Given the description of an element on the screen output the (x, y) to click on. 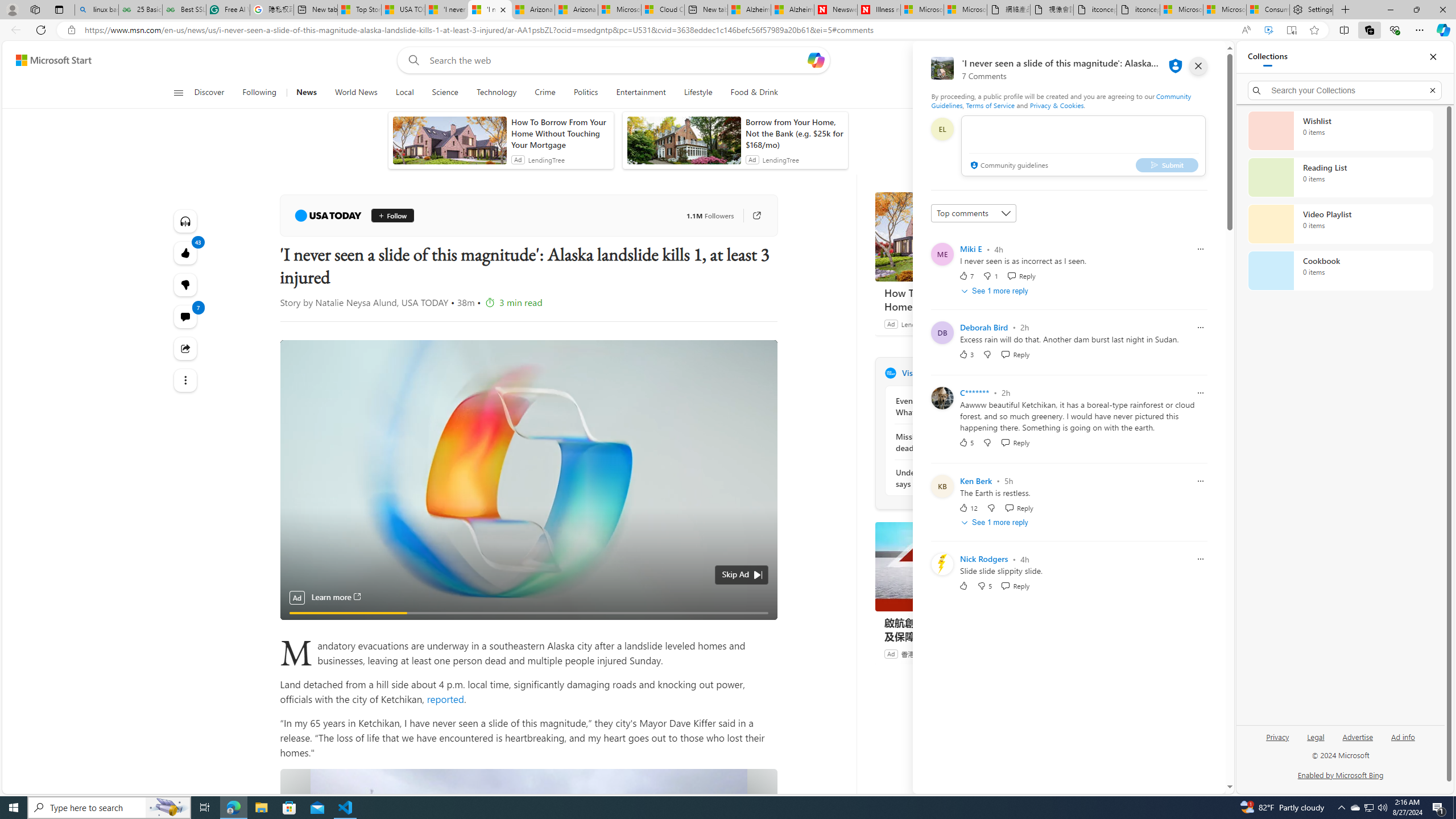
itconcepthk.com/projector_solutions.mp4 (1138, 9)
See 1 more reply (995, 522)
Wishlist collection, 0 items (1339, 130)
Profile Picture (941, 563)
12 Like (967, 507)
Class: at-item (184, 380)
LendingTree (919, 323)
Video Playlist collection, 0 items (1339, 223)
